Given the description of an element on the screen output the (x, y) to click on. 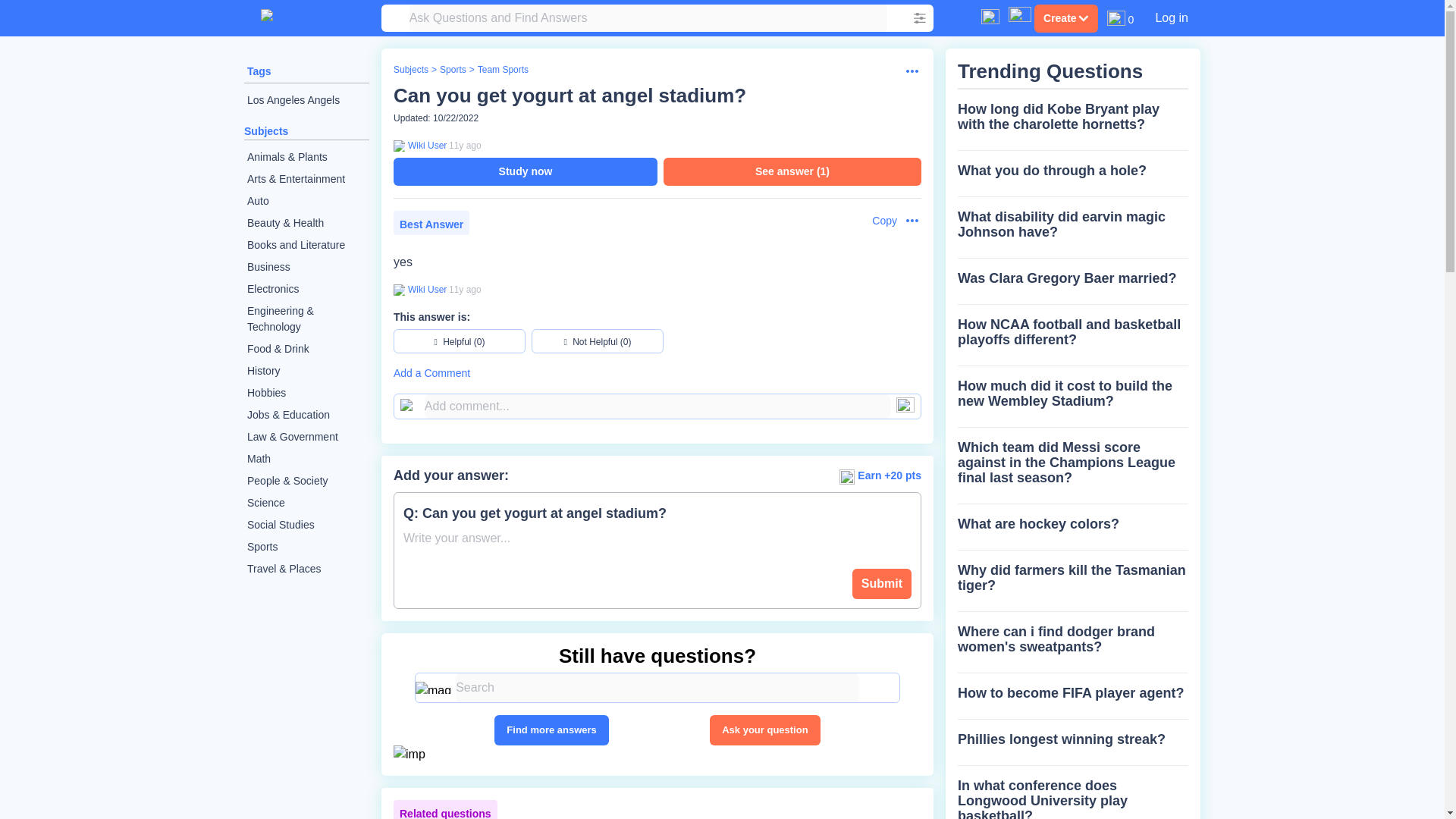
Wiki User (425, 145)
2012-09-09 13:02:47 (464, 145)
Math (306, 458)
Science (306, 503)
Books and Literature (306, 245)
Business (306, 267)
Team Sports (502, 69)
Study now (525, 171)
Hobbies (306, 393)
Copy (876, 220)
